Given the description of an element on the screen output the (x, y) to click on. 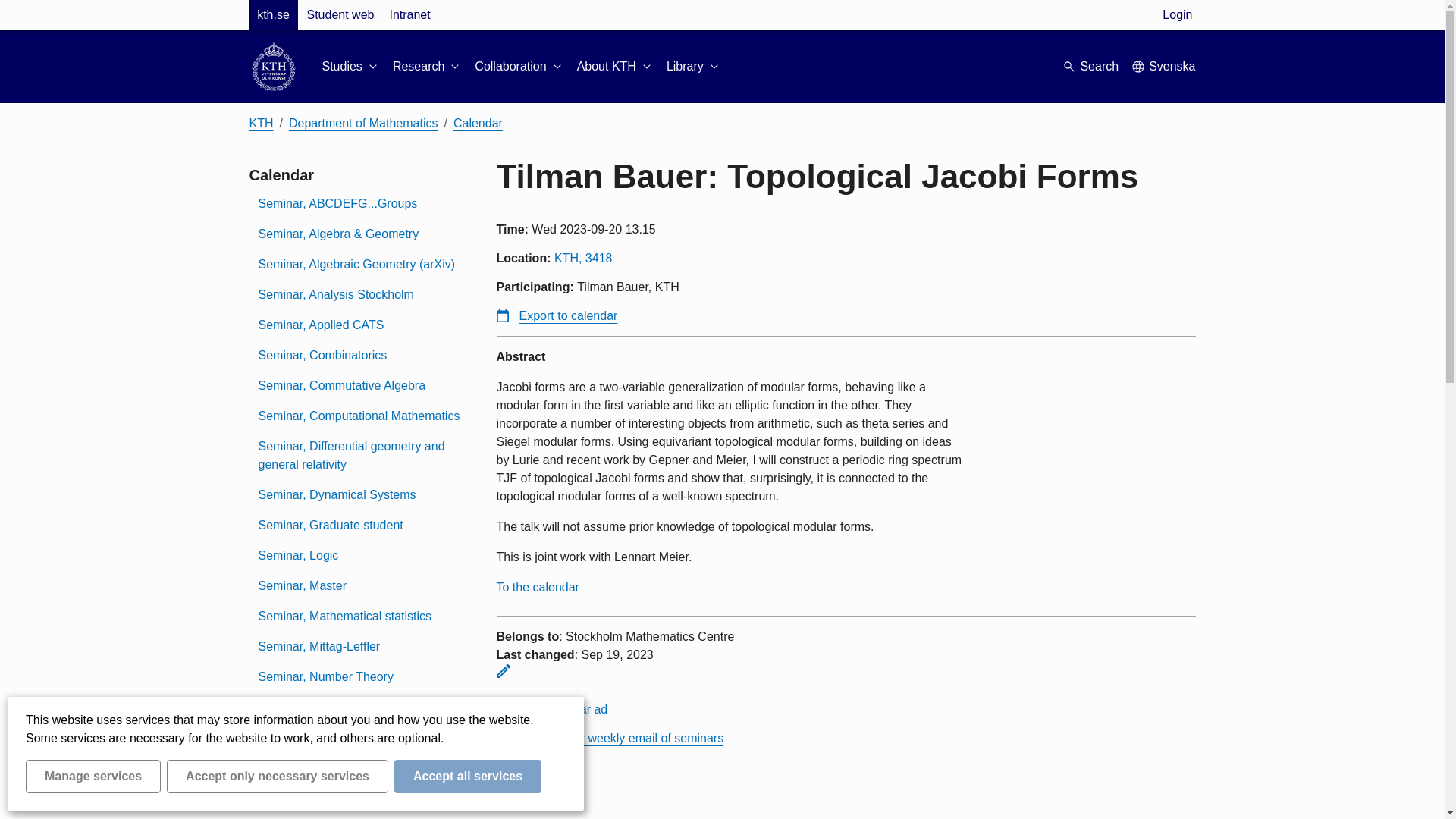
Collaboration (519, 66)
About KTH (614, 66)
Intranet (408, 15)
Student web (339, 15)
Edit this page (502, 671)
Research (428, 66)
Studies (350, 66)
Library (694, 66)
Login (1176, 15)
kth.se (272, 15)
